Given the description of an element on the screen output the (x, y) to click on. 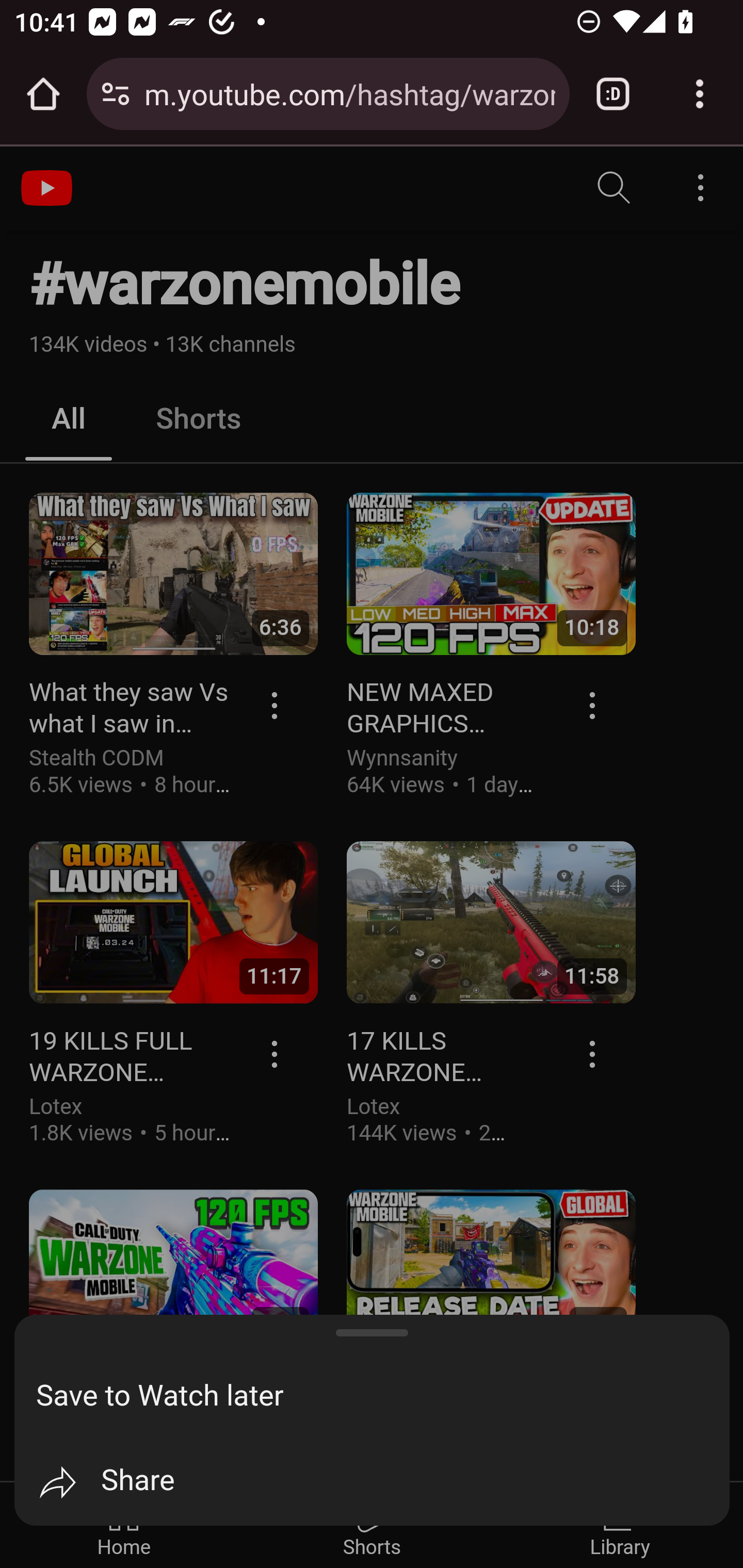
Open the home page (43, 93)
Connection is secure (115, 93)
Switch or close tabs (612, 93)
Customize and control Google Chrome (699, 93)
m.youtube.com/hashtag/warzonemobile#bottom-sheet (349, 92)
Save to Watch later (383, 1396)
Share (383, 1482)
